Given the description of an element on the screen output the (x, y) to click on. 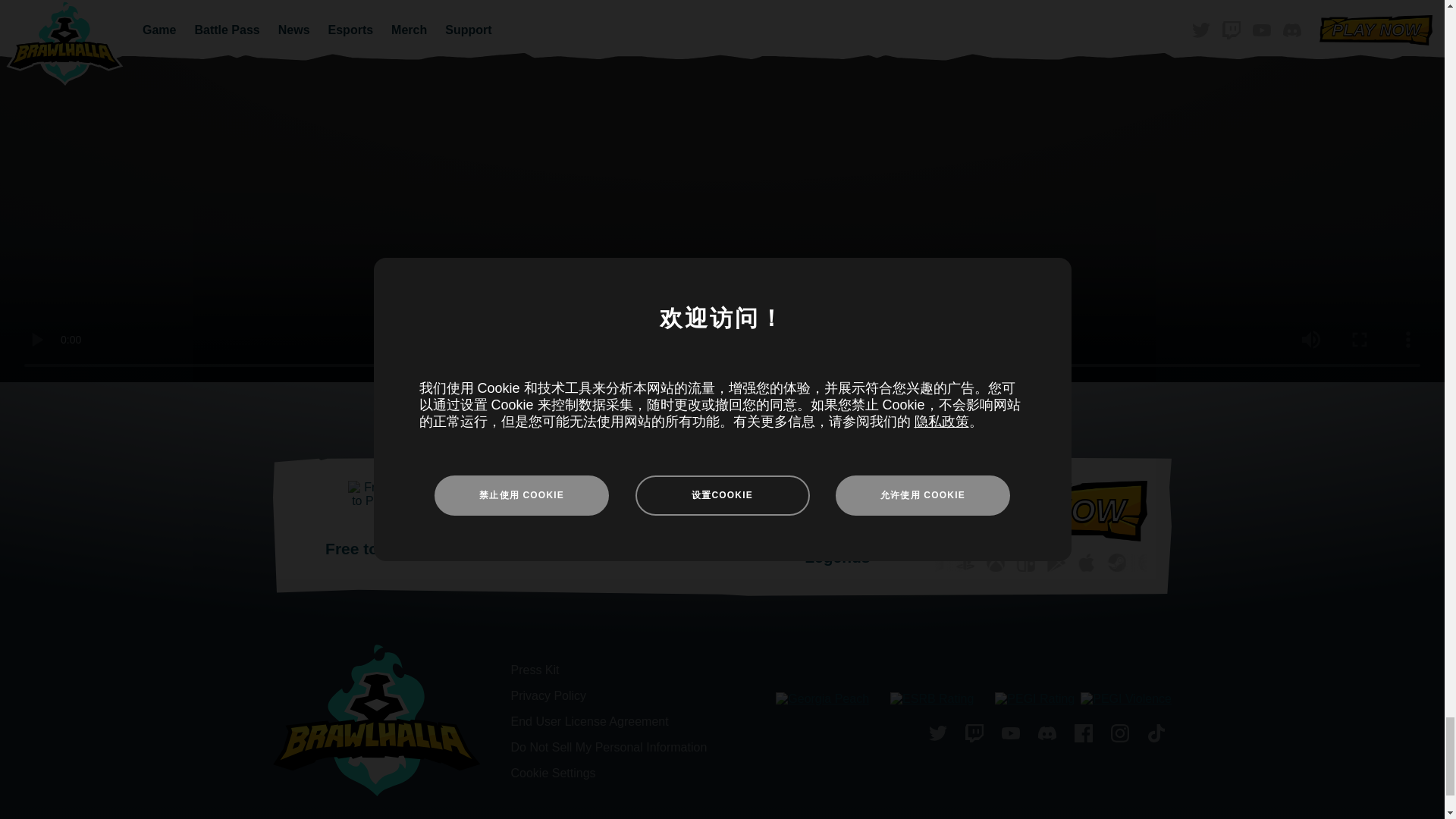
Twitch (974, 734)
YouTube (1010, 734)
Twitter (938, 734)
Facebook (1083, 734)
Instagram (1120, 734)
TikTok (1156, 734)
Discord (1047, 734)
